Given the description of an element on the screen output the (x, y) to click on. 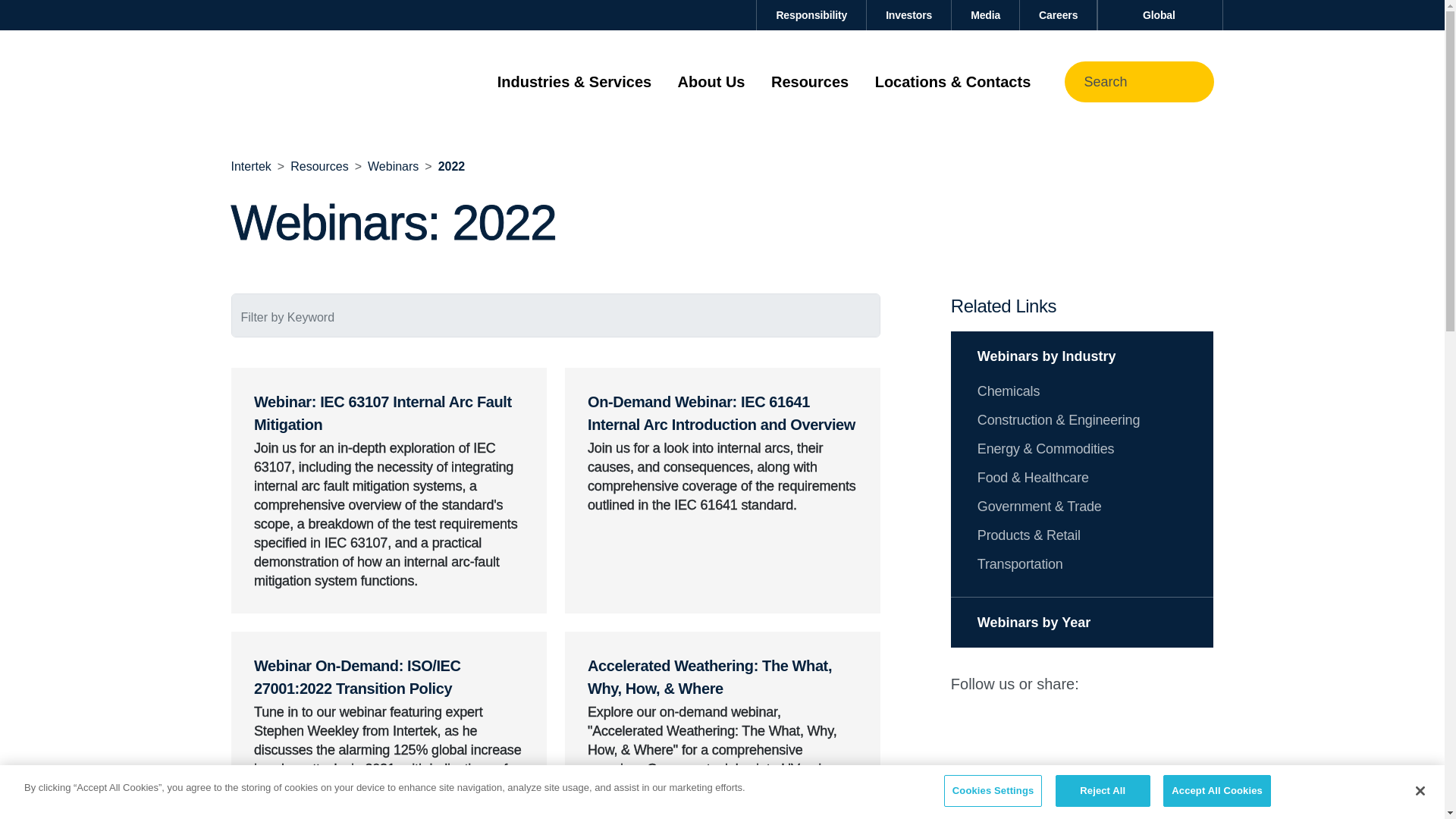
Intertek Intertek Brand Logo (304, 81)
YouTube Logo Icon for YouTube (1195, 683)
Webinars (393, 165)
Intertek (250, 165)
Facebook Logo Icon for Facebook (1164, 683)
LinkedIn Logo Icon for LinkedIn (1102, 683)
Intertek Intertek Brand Logo (304, 81)
Resources (318, 165)
